Given the description of an element on the screen output the (x, y) to click on. 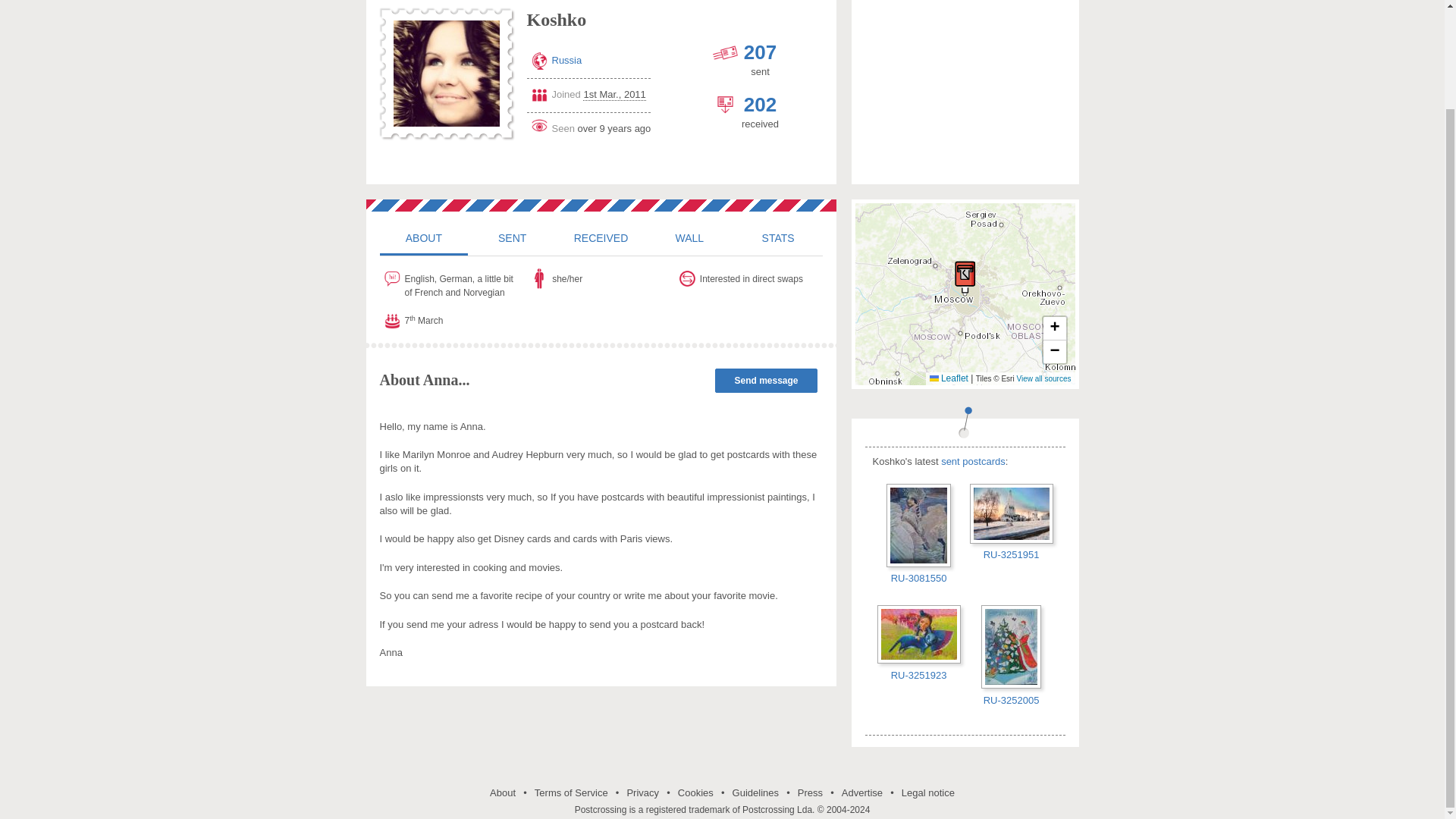
Speaks (452, 282)
Koshko's statistics (777, 237)
Last login (587, 125)
Russia (566, 60)
STATS (777, 237)
207 (760, 51)
Koshko's wall of postcards (689, 237)
Koshko's received postcards (600, 237)
Koshko's profile (422, 237)
Koshko's sent postcards (511, 237)
SENT (511, 237)
202 (760, 104)
RECEIVED (600, 237)
Gender pronouns (601, 278)
3rd party ad content (964, 92)
